Given the description of an element on the screen output the (x, y) to click on. 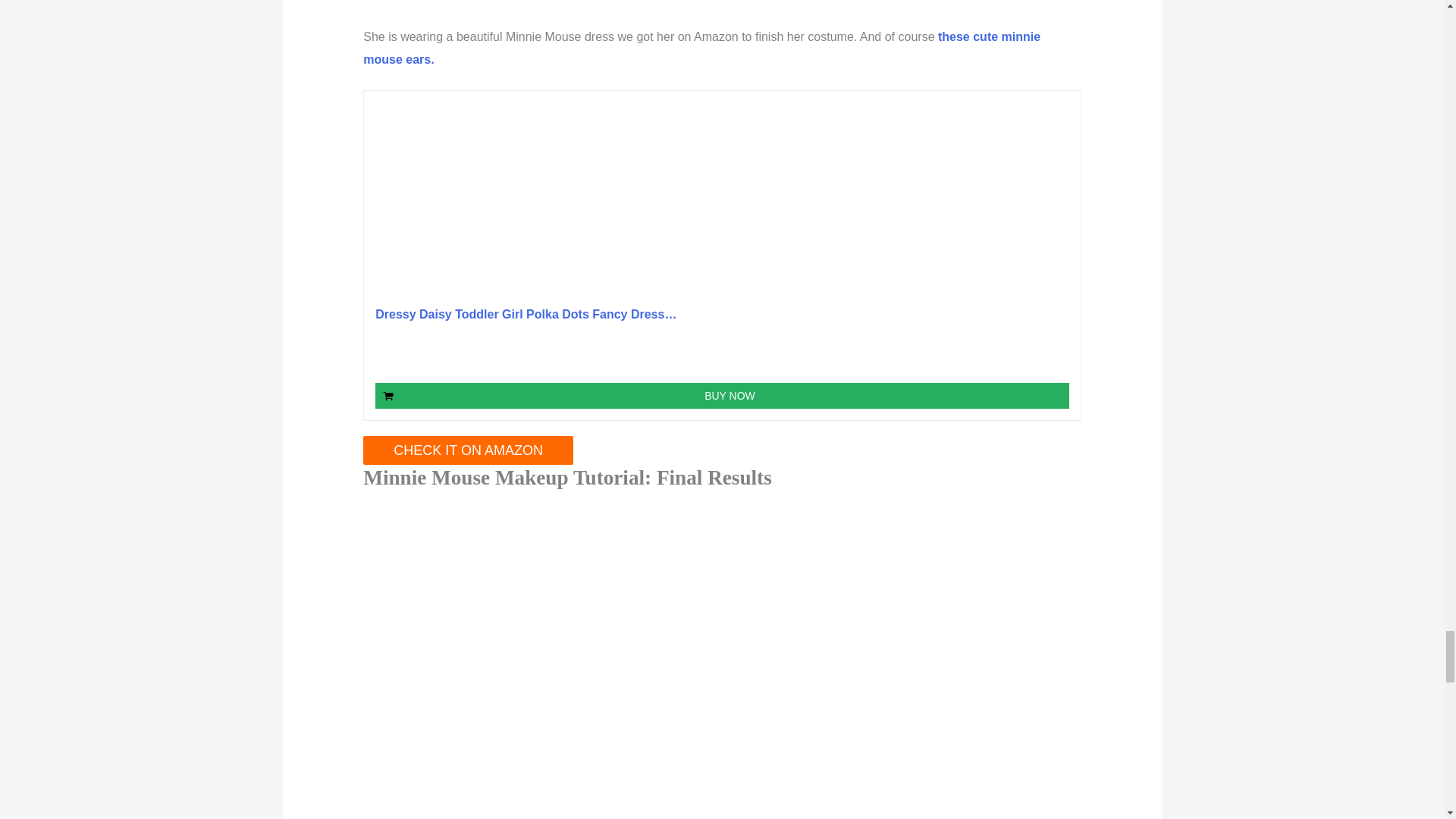
BUY NOW (721, 395)
Amazon Prime (1047, 355)
